Given the description of an element on the screen output the (x, y) to click on. 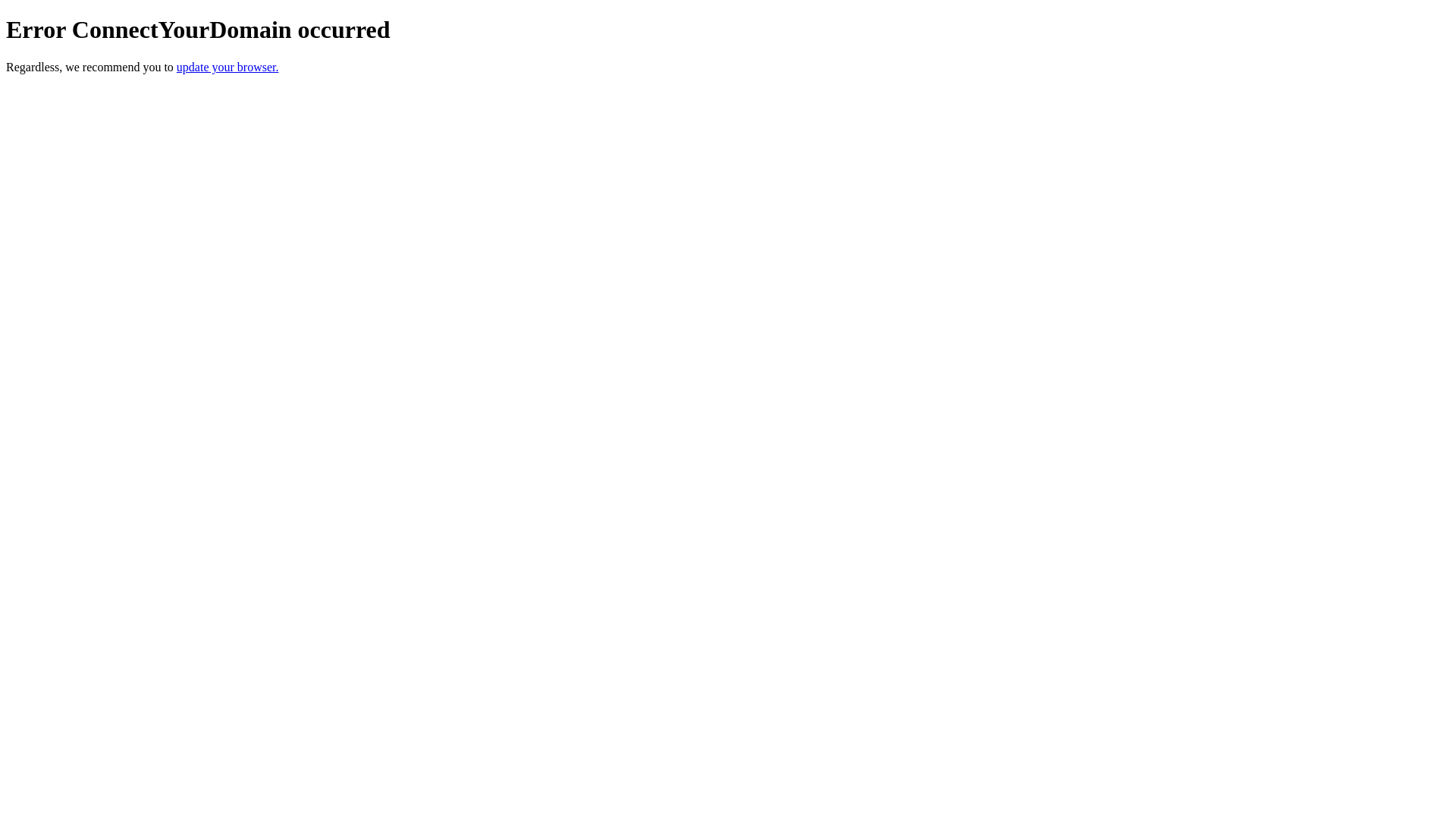
update your browser. Element type: text (227, 66)
